Given the description of an element on the screen output the (x, y) to click on. 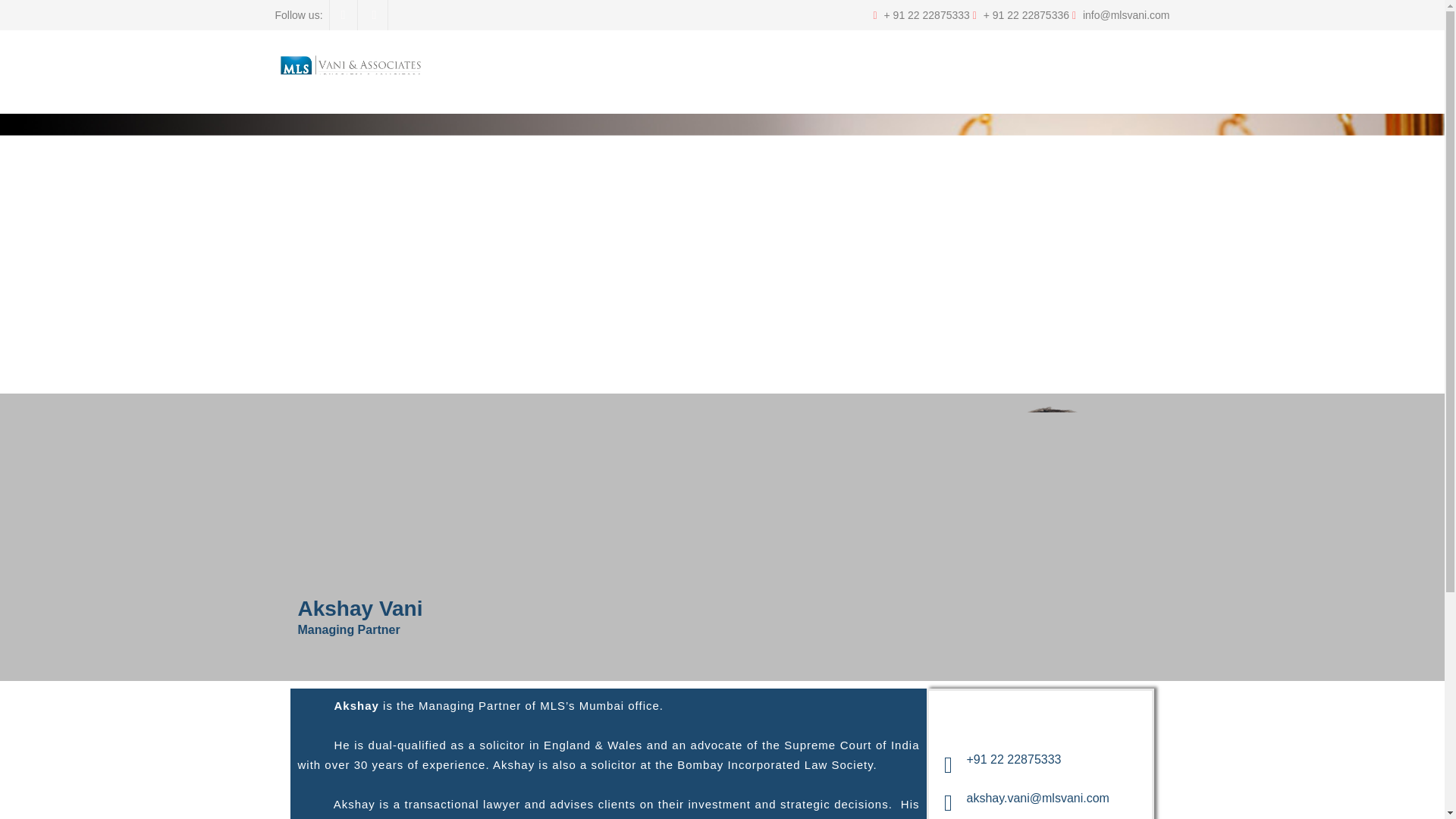
facebook (344, 15)
linkedin (373, 15)
